Given the description of an element on the screen output the (x, y) to click on. 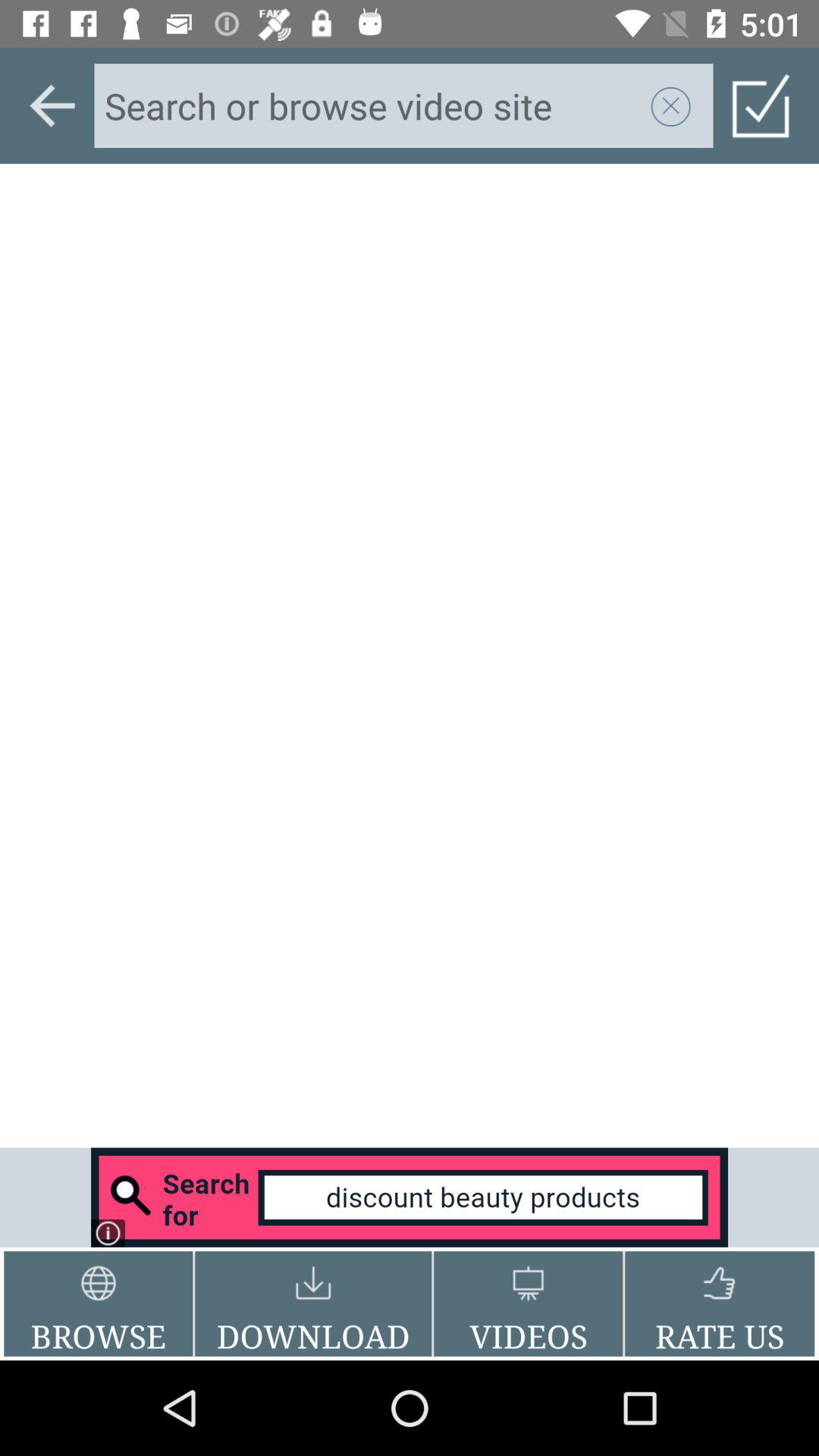
launch item at the top left corner (52, 105)
